Given the description of an element on the screen output the (x, y) to click on. 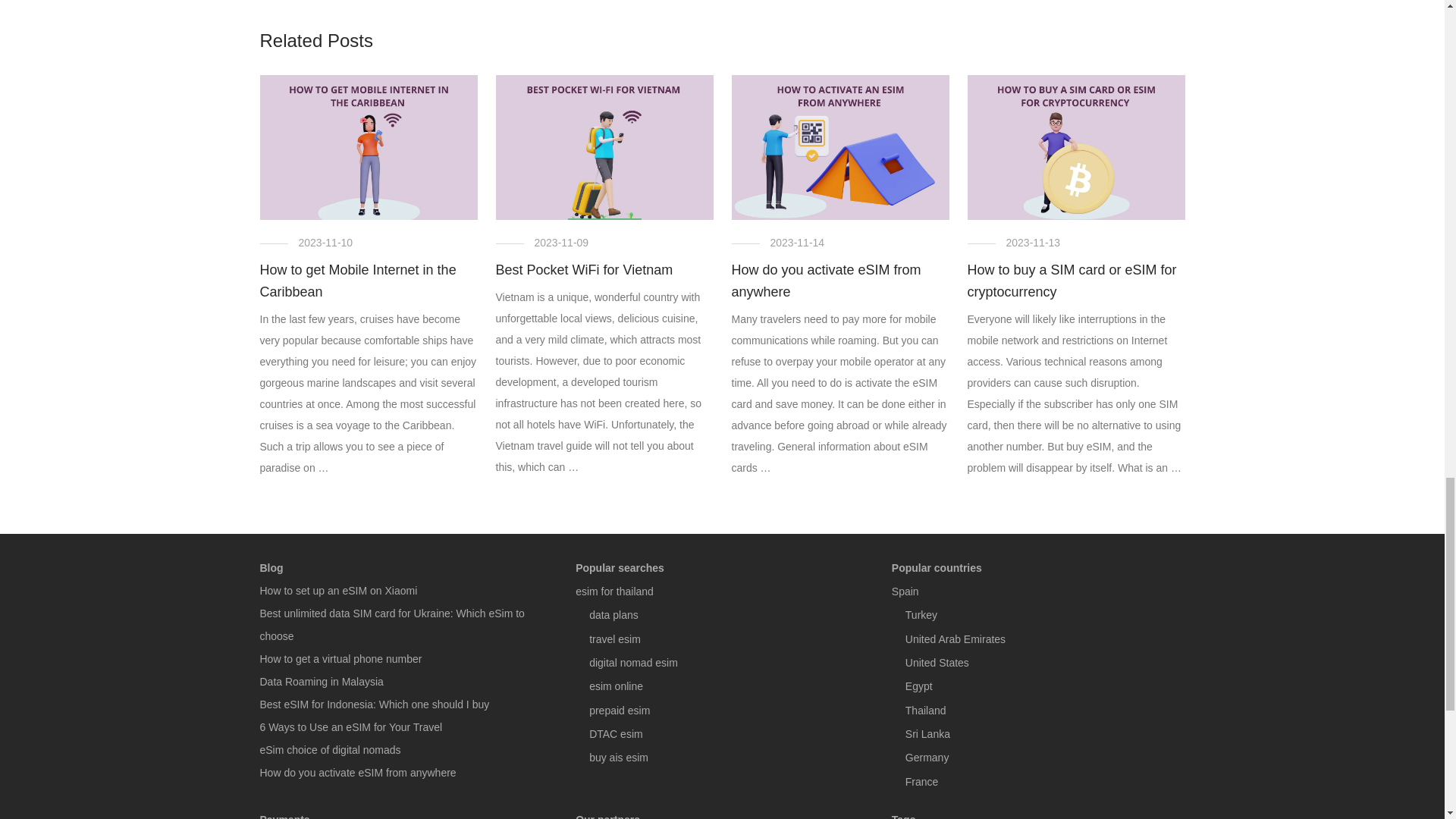
travel esim (614, 639)
esim for thailand (614, 590)
eSim choice of digital nomads (329, 749)
How do you activate eSIM from anywhere (825, 280)
6 Ways to Use an eSIM for Your Travel (350, 727)
data plans (614, 614)
Blog (406, 567)
How to set up an eSIM on Xiaomi (337, 590)
How to get Mobile Internet in the Caribbean (357, 280)
Data Roaming in Malaysia (320, 681)
